Given the description of an element on the screen output the (x, y) to click on. 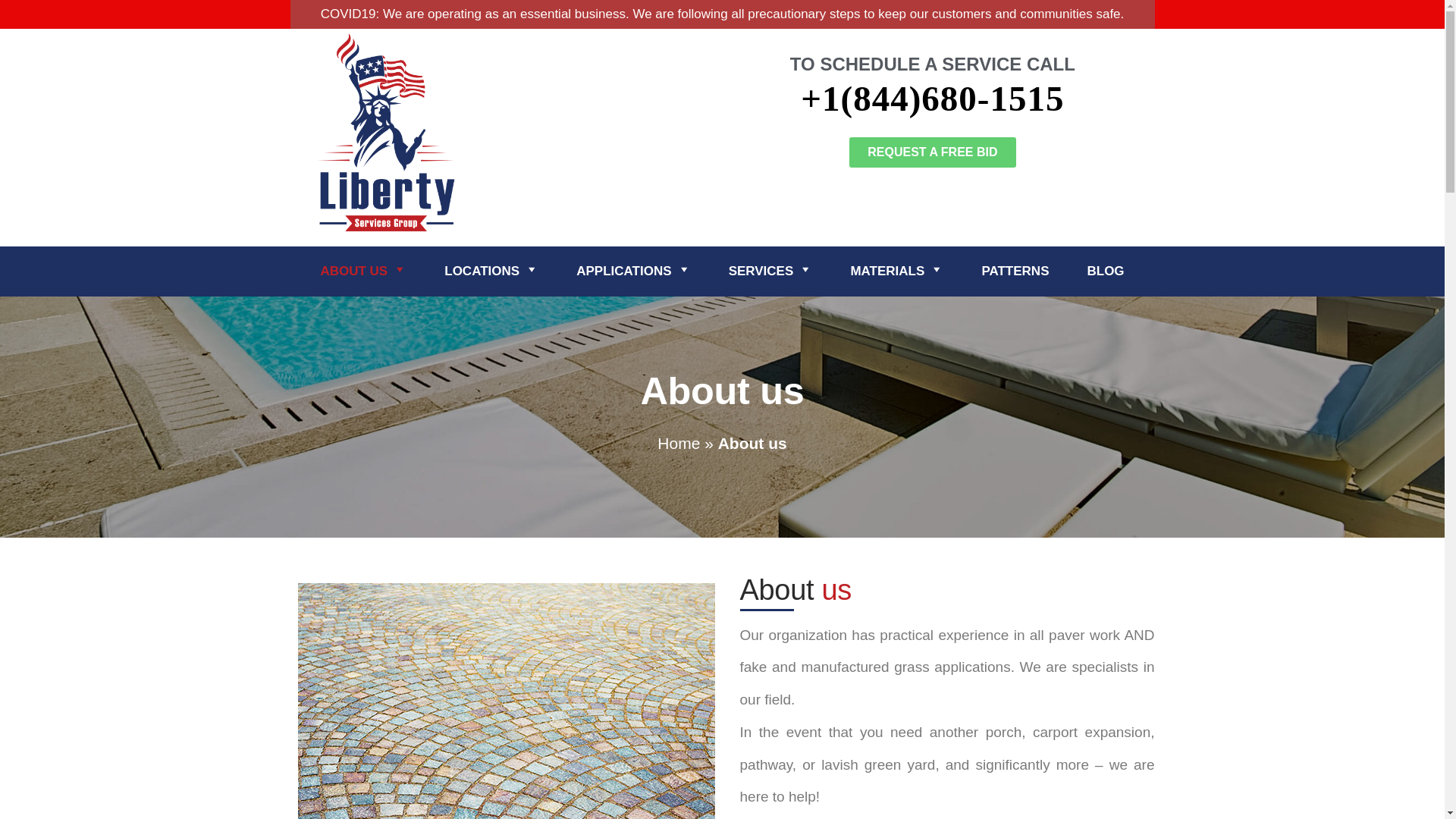
APPLICATIONS (633, 271)
MATERIALS (896, 271)
PATTERNS (1014, 271)
ABOUT US (363, 271)
REQUEST A FREE BID (931, 152)
LOCATIONS (491, 271)
BLOG (1104, 271)
SERVICES (770, 271)
